Given the description of an element on the screen output the (x, y) to click on. 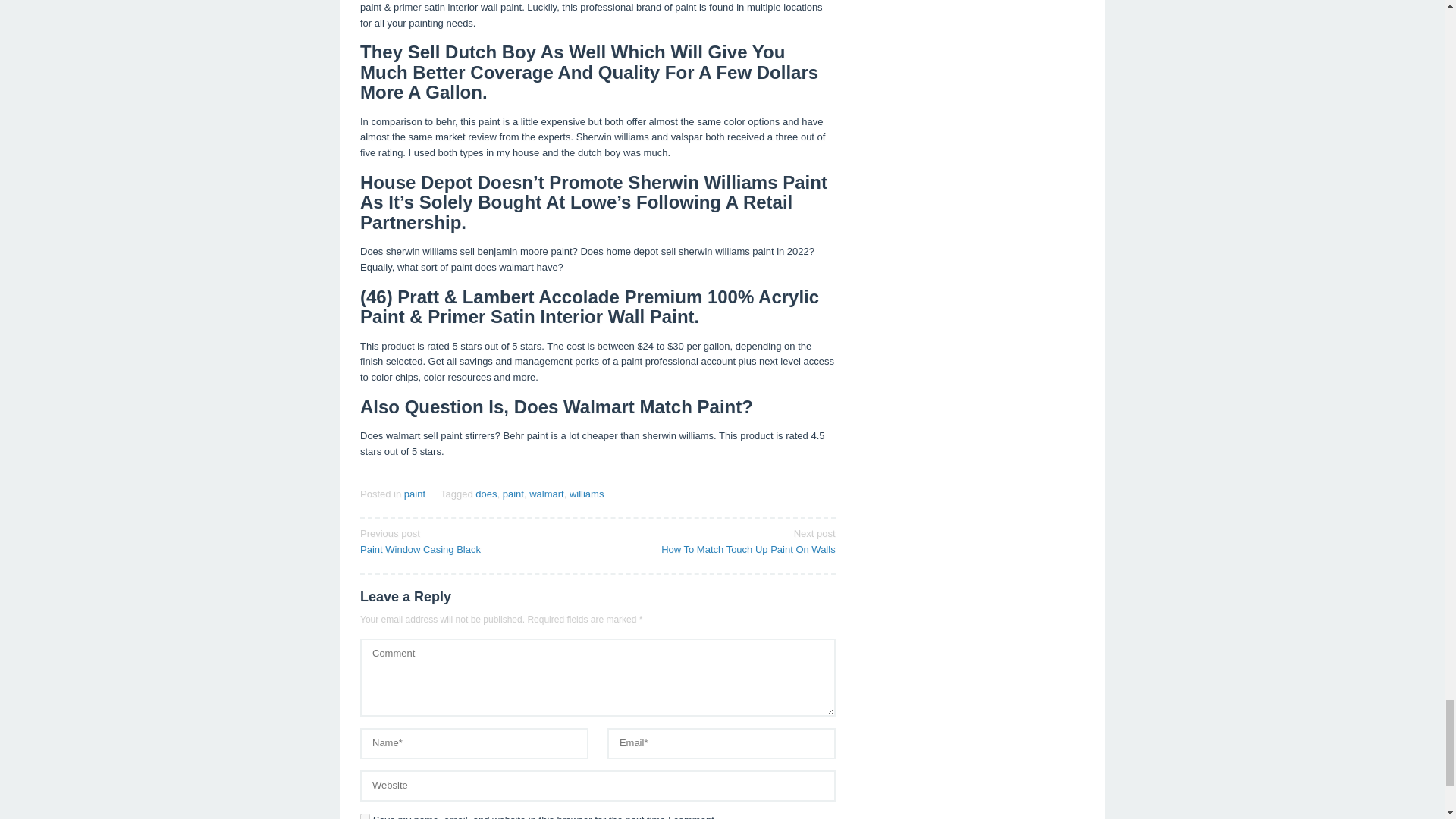
yes (364, 816)
paint (513, 493)
does (486, 493)
walmart (473, 540)
paint (546, 493)
williams (721, 540)
